Given the description of an element on the screen output the (x, y) to click on. 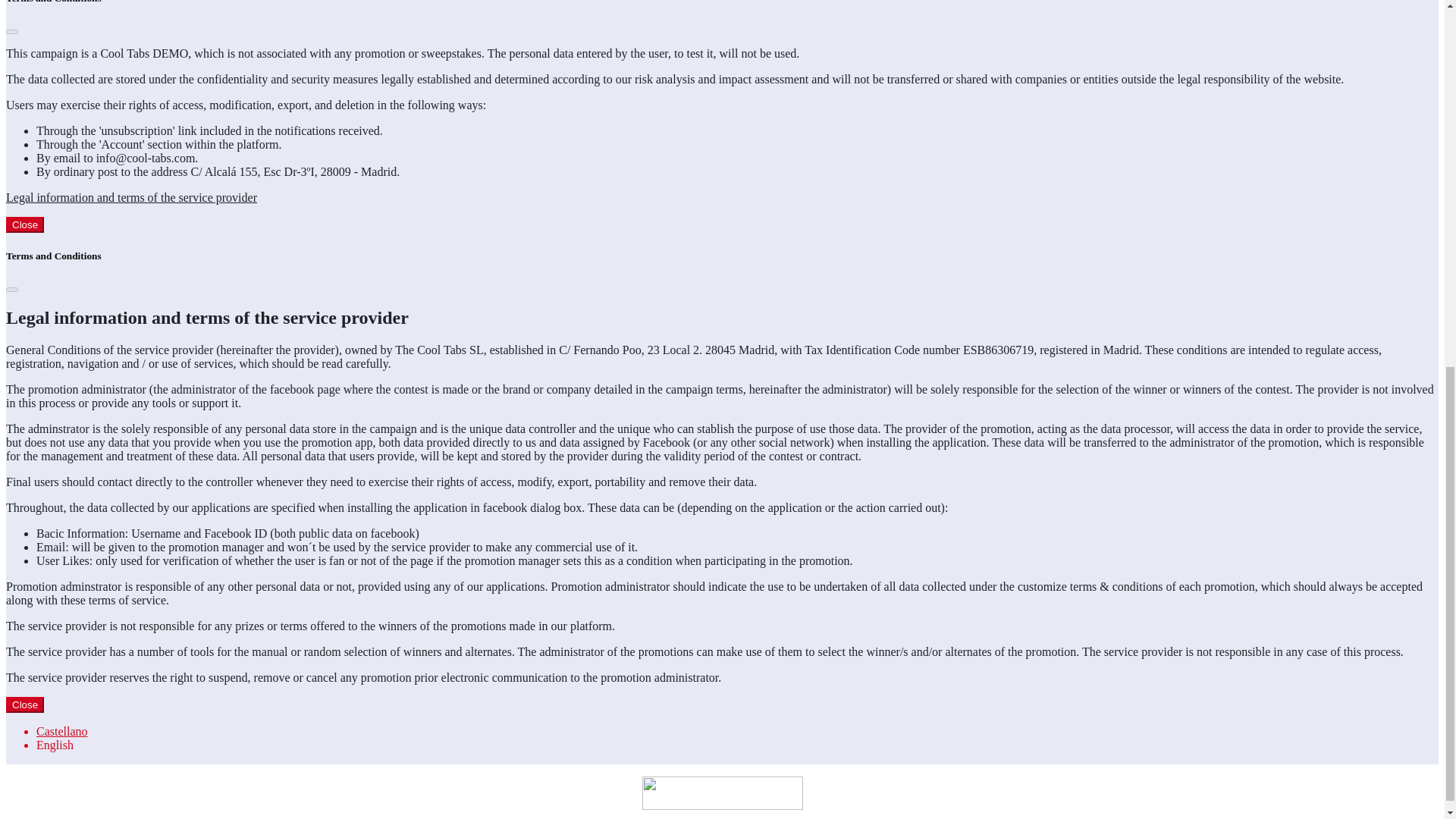
Castellano (61, 730)
Close (24, 703)
Close (24, 224)
Legal information and terms of the service provider (131, 196)
